Given the description of an element on the screen output the (x, y) to click on. 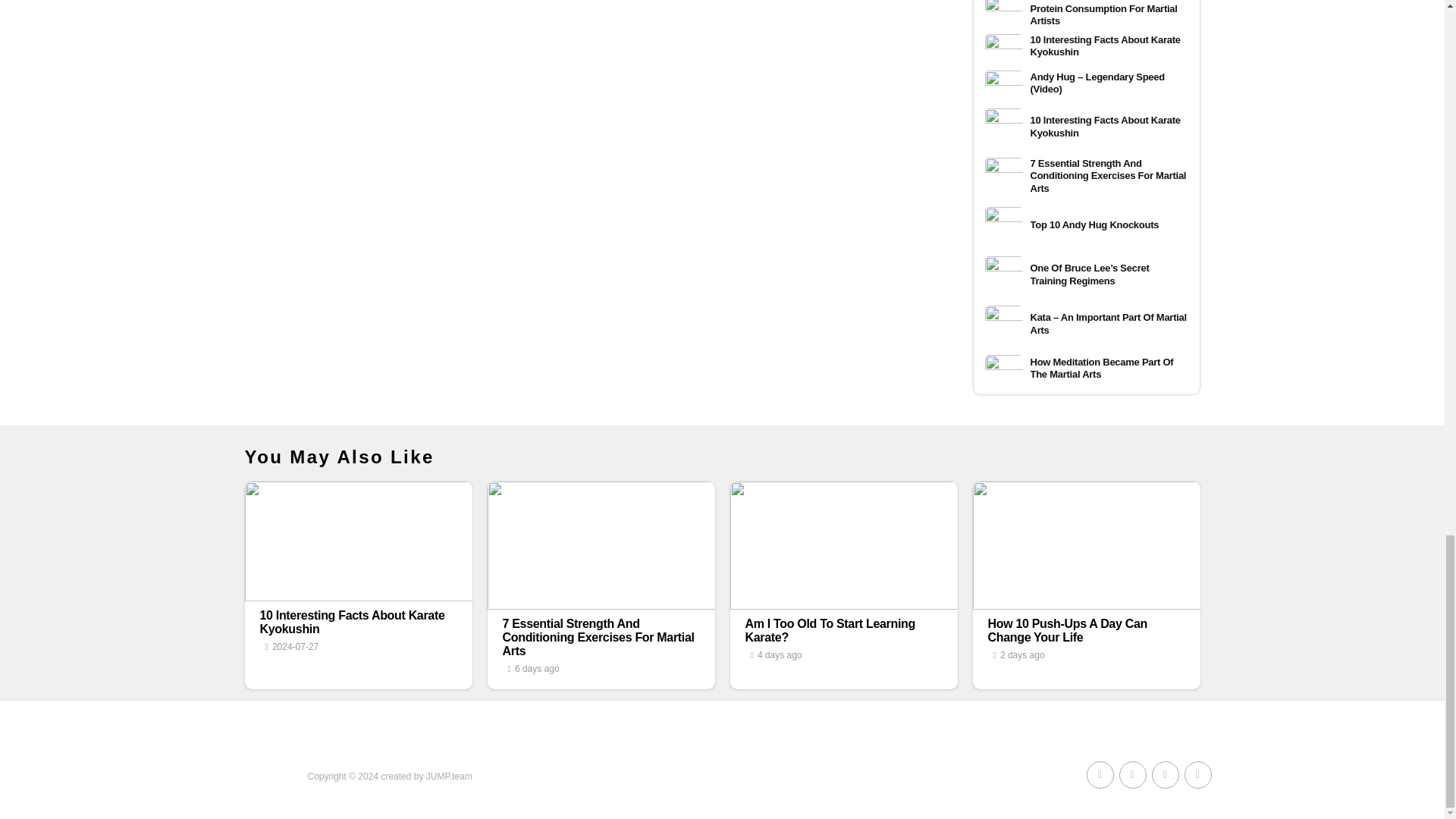
jump.team (448, 776)
